Given the description of an element on the screen output the (x, y) to click on. 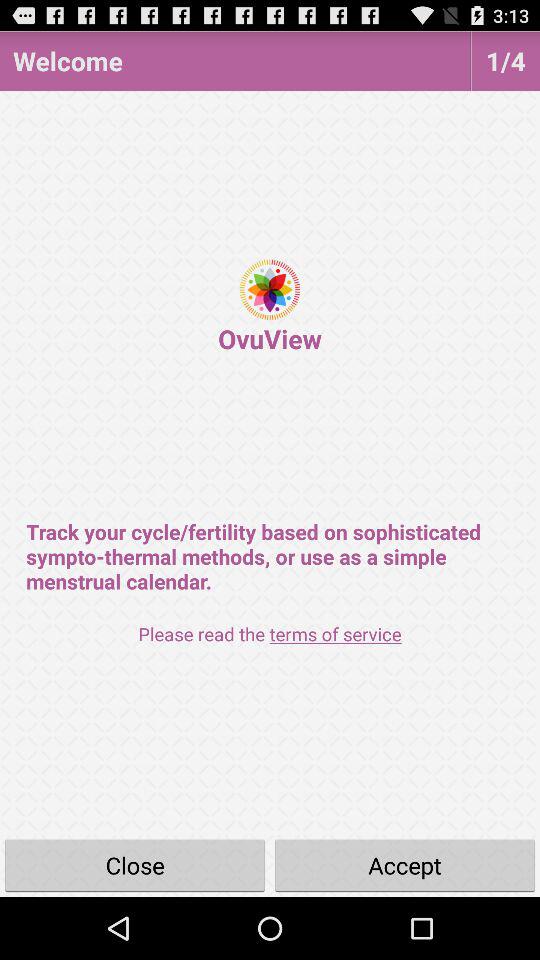
flip until the please read the app (269, 633)
